Given the description of an element on the screen output the (x, y) to click on. 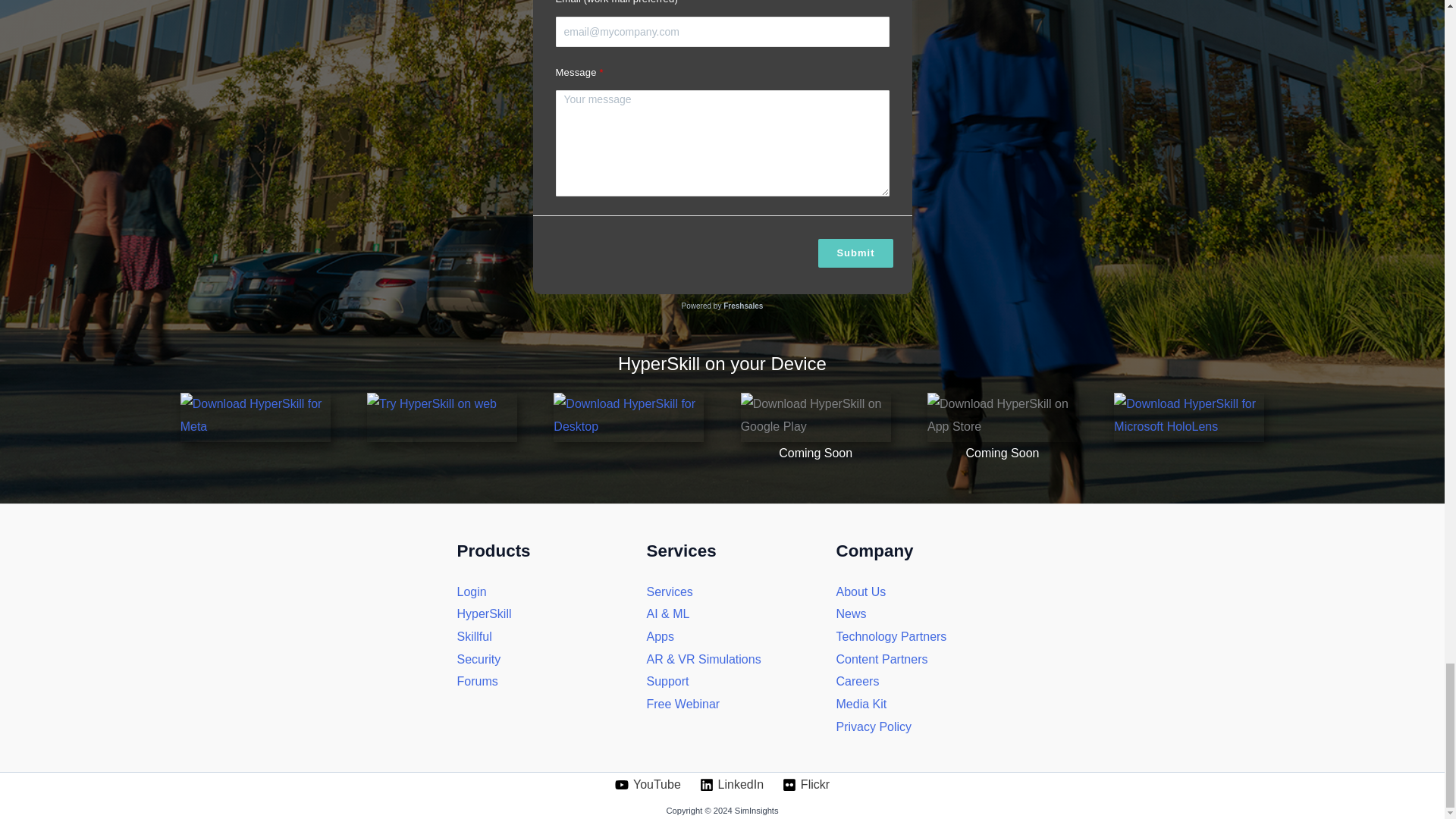
Download HyperSkill for Desktop (628, 417)
Download HyperSkill on Google Play (816, 417)
Try HyperSkill on web (441, 417)
Download HyperSkill for Meta (255, 417)
